Given the description of an element on the screen output the (x, y) to click on. 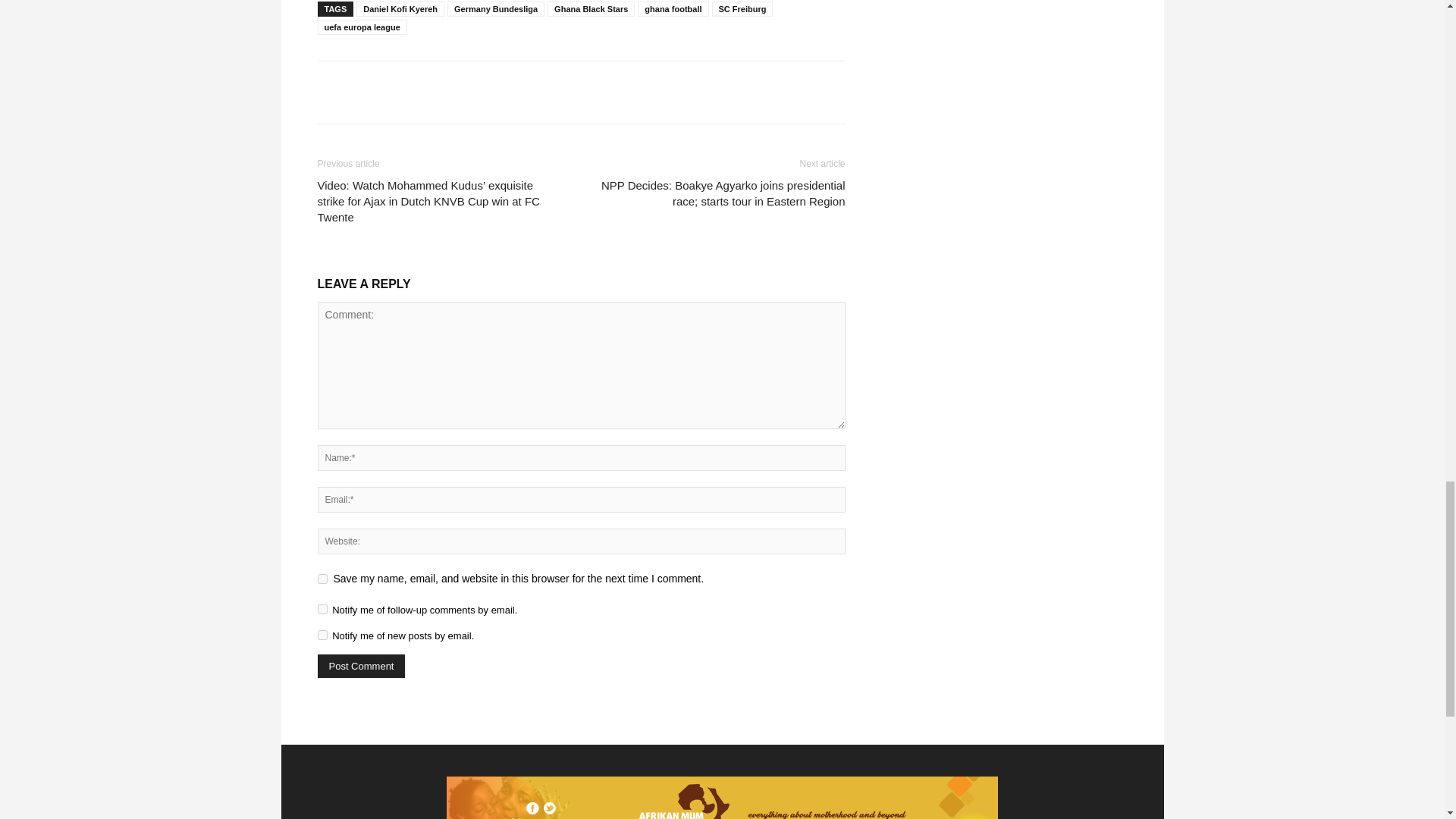
subscribe (321, 634)
yes (321, 578)
subscribe (321, 609)
Post Comment (360, 666)
